Given the description of an element on the screen output the (x, y) to click on. 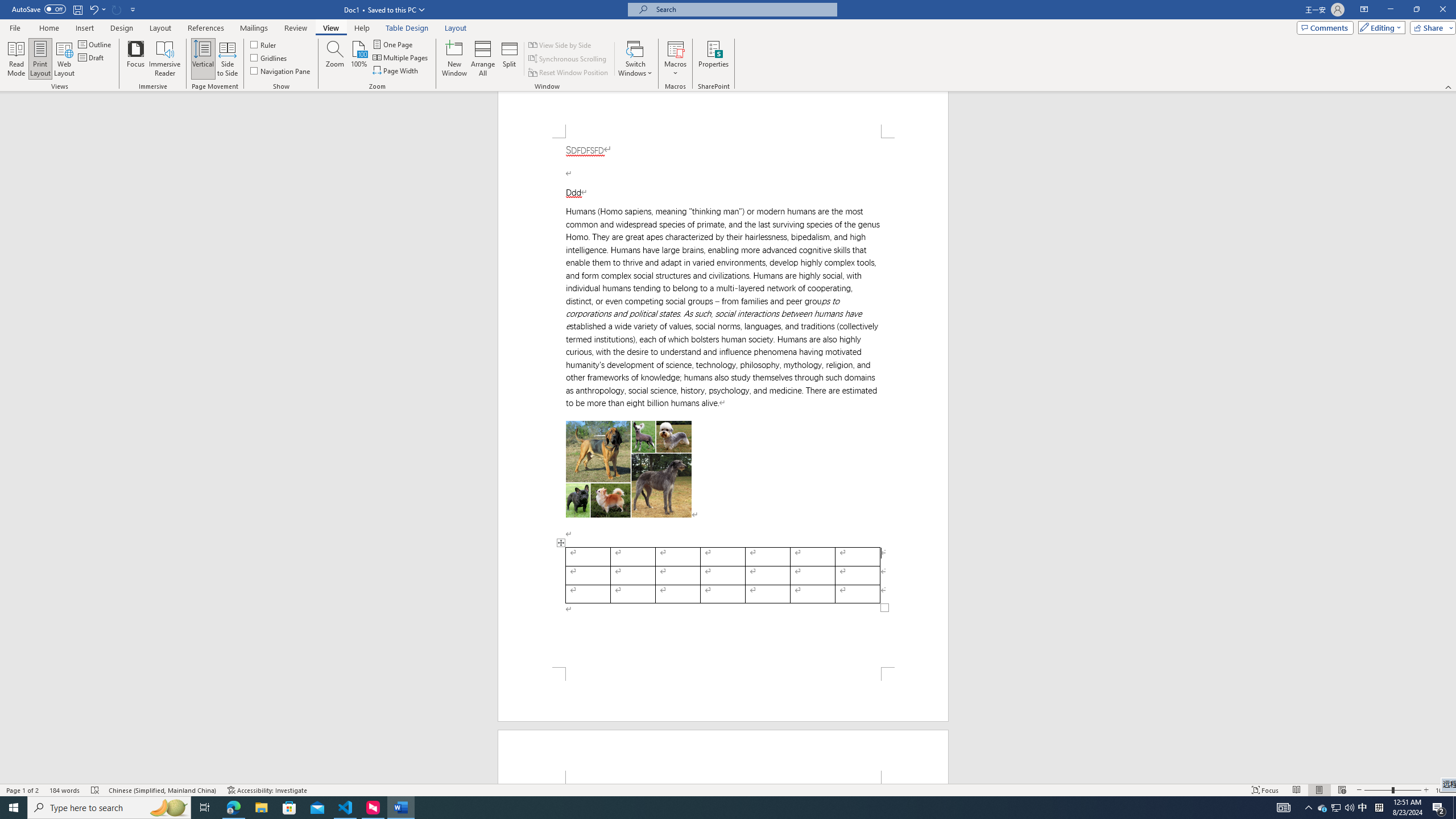
Morphological variation in six dogs (628, 468)
Undo Apply Quick Style Set (92, 9)
Zoom 100% (1443, 790)
View Macros (675, 48)
Synchronous Scrolling (568, 58)
Navigation Pane (281, 69)
Page 1 content (723, 402)
Properties (713, 58)
Undo Apply Quick Style Set (96, 9)
